Given the description of an element on the screen output the (x, y) to click on. 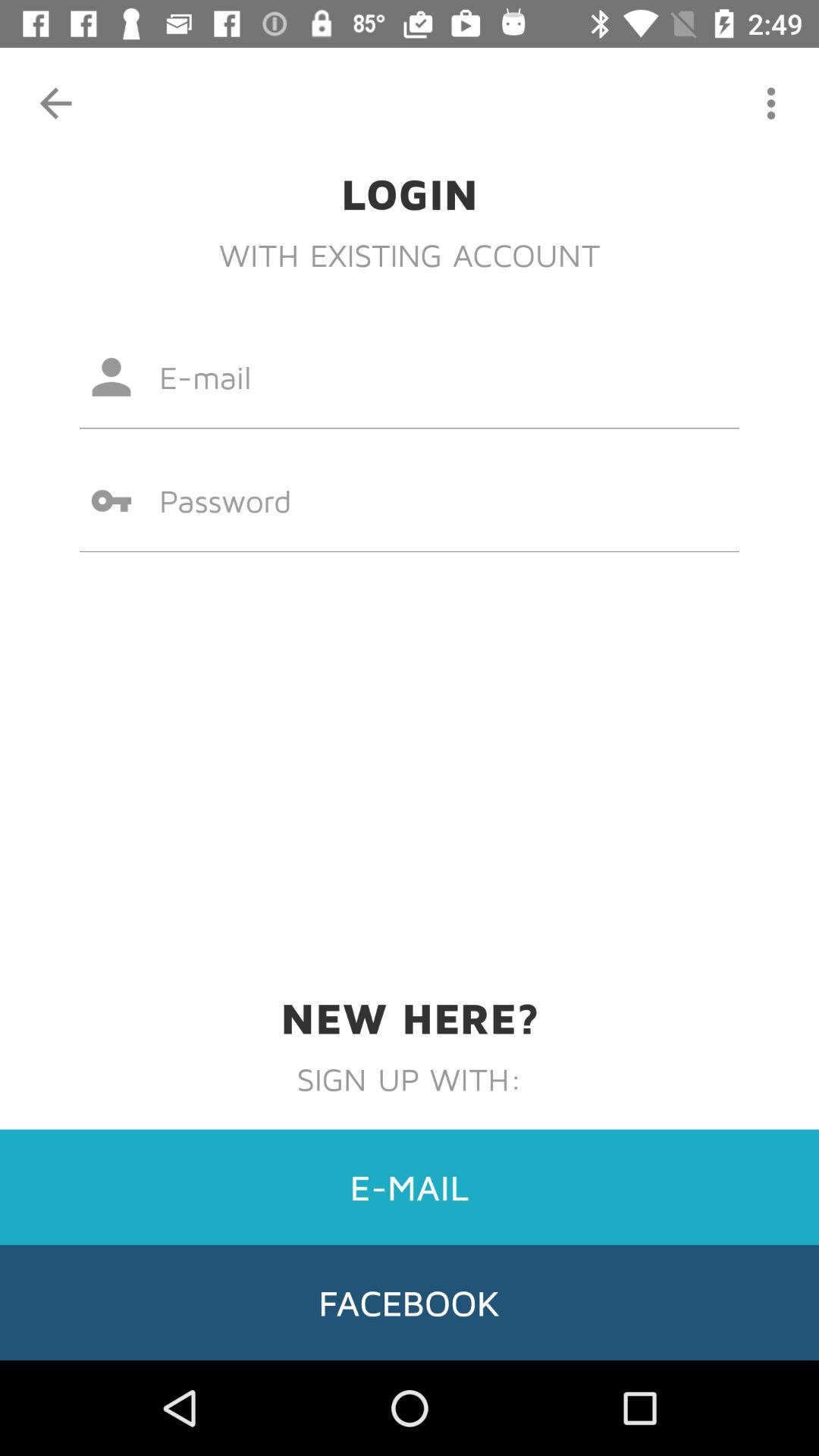
enter login password (409, 500)
